Given the description of an element on the screen output the (x, y) to click on. 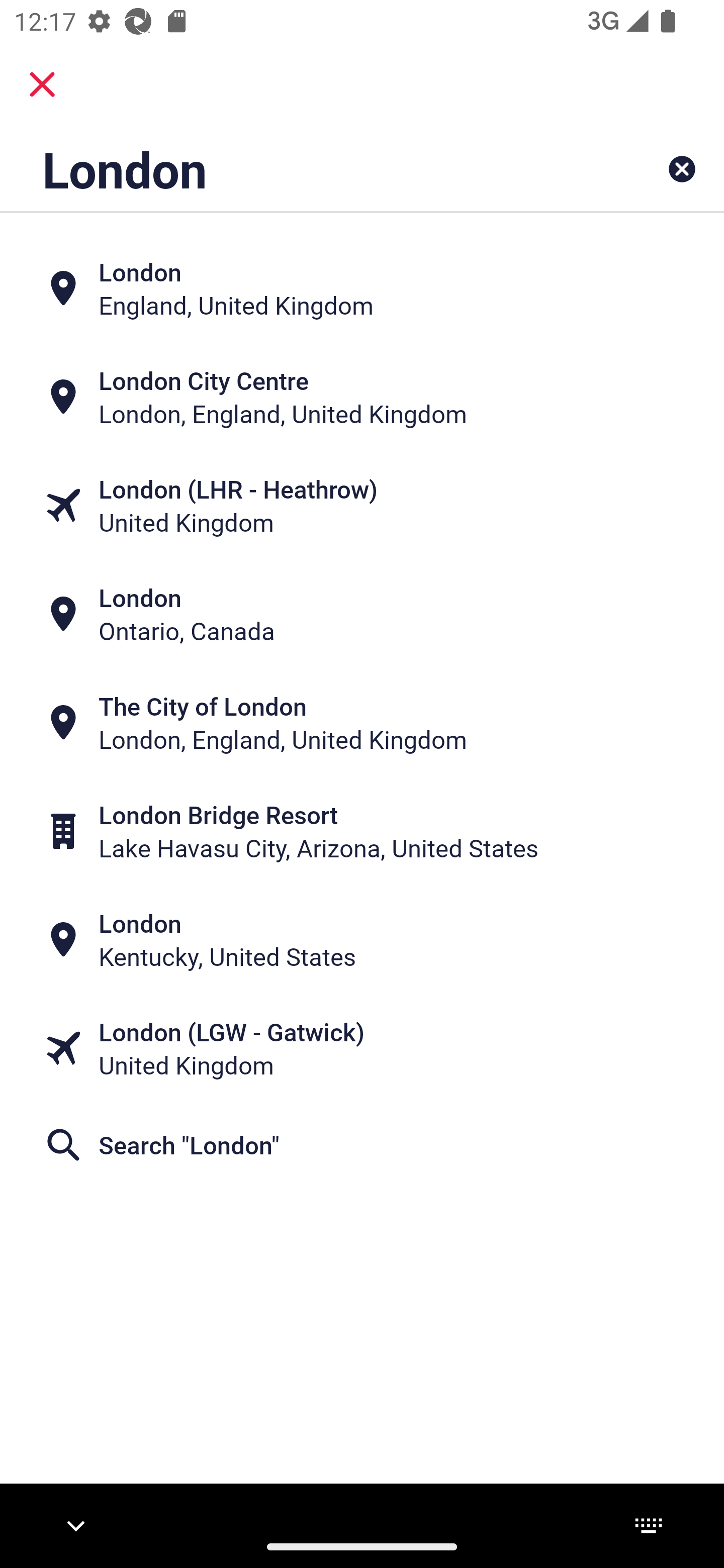
close. (42, 84)
Clear (681, 169)
London (298, 169)
London England, United Kingdom (362, 288)
London City Centre London, England, United Kingdom (362, 397)
London (LHR - Heathrow) United Kingdom (362, 505)
London Ontario, Canada (362, 613)
The City of London London, England, United Kingdom (362, 722)
London Kentucky, United States (362, 939)
London (LGW - Gatwick) United Kingdom (362, 1048)
Search "London" (362, 1144)
